Given the description of an element on the screen output the (x, y) to click on. 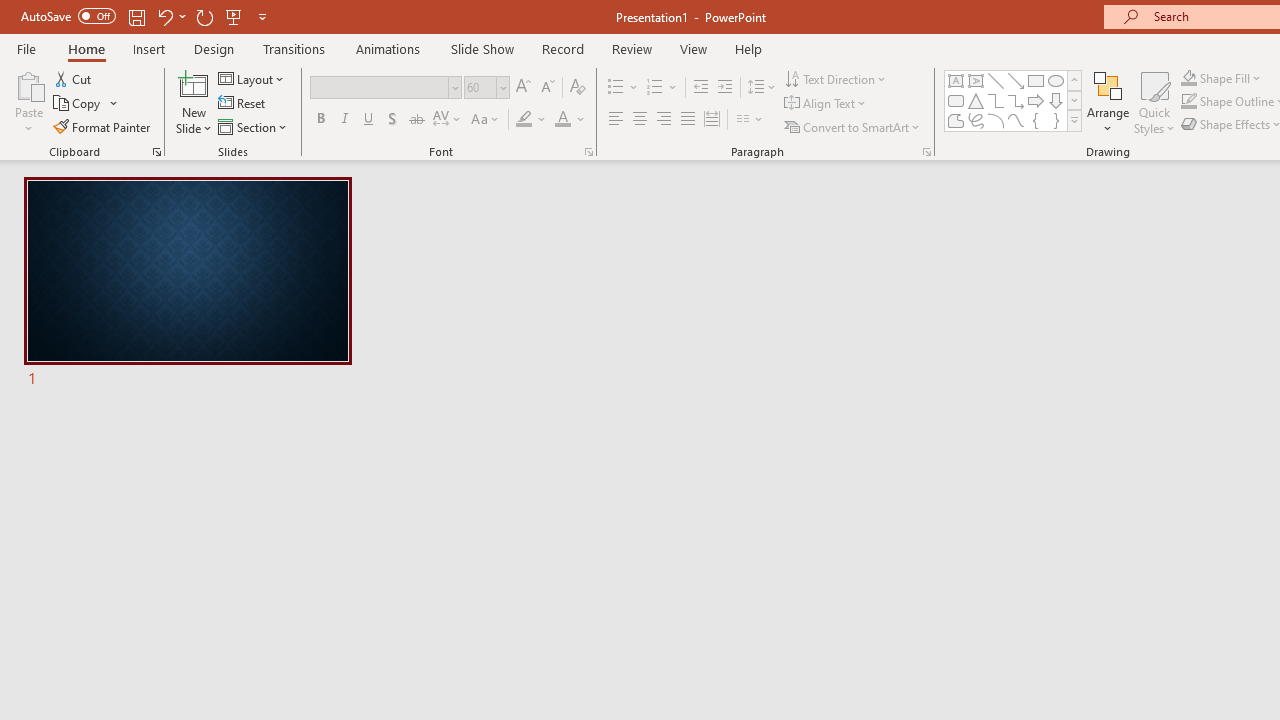
Align Left (616, 119)
Columns (750, 119)
Shape Fill (1221, 78)
Bullets (616, 87)
Connector: Elbow (995, 100)
Paste (28, 84)
Save (136, 15)
Rectangle: Rounded Corners (955, 100)
Numbering (654, 87)
AutoSave (68, 16)
Font Size (480, 87)
Font Color (569, 119)
AutomationID: ShapesInsertGallery (1014, 100)
Class: NetUIImage (1075, 120)
